Given the description of an element on the screen output the (x, y) to click on. 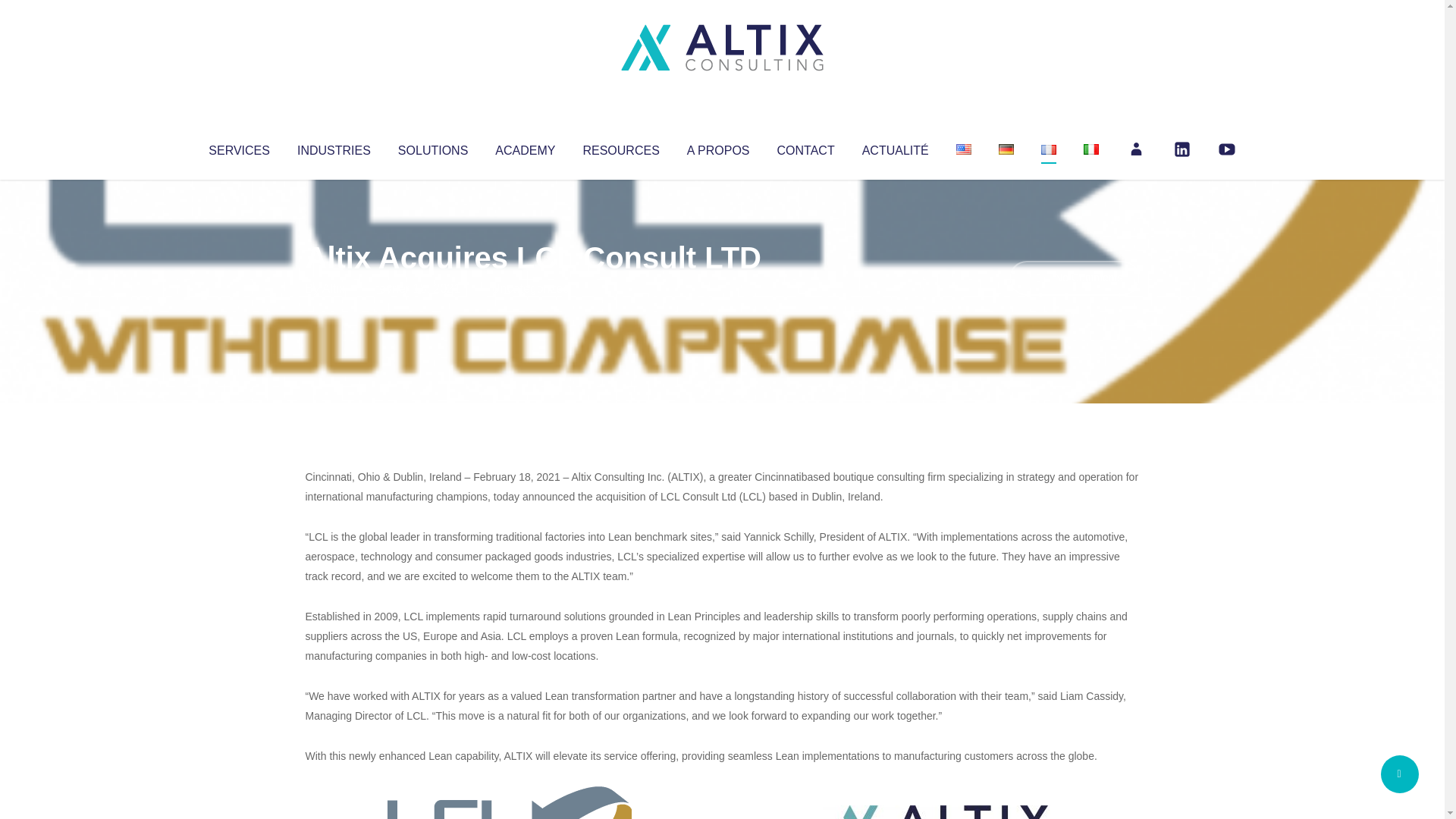
ACADEMY (524, 146)
Articles par Altix (333, 287)
Altix (333, 287)
INDUSTRIES (334, 146)
SOLUTIONS (432, 146)
RESOURCES (620, 146)
No Comments (1073, 278)
Uncategorized (530, 287)
A PROPOS (718, 146)
SERVICES (238, 146)
